Given the description of an element on the screen output the (x, y) to click on. 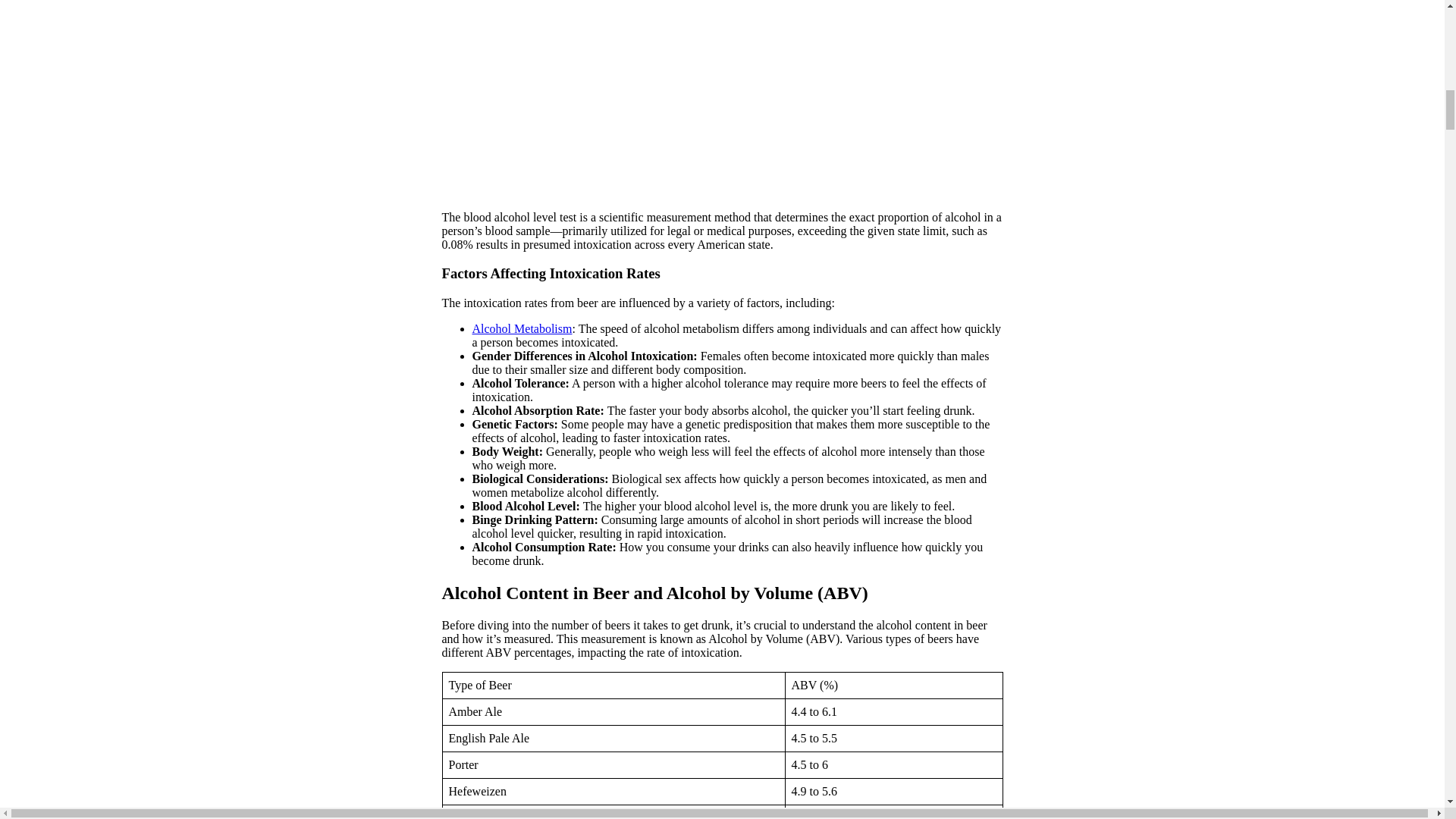
Alcohol Metabolism (521, 328)
